Given the description of an element on the screen output the (x, y) to click on. 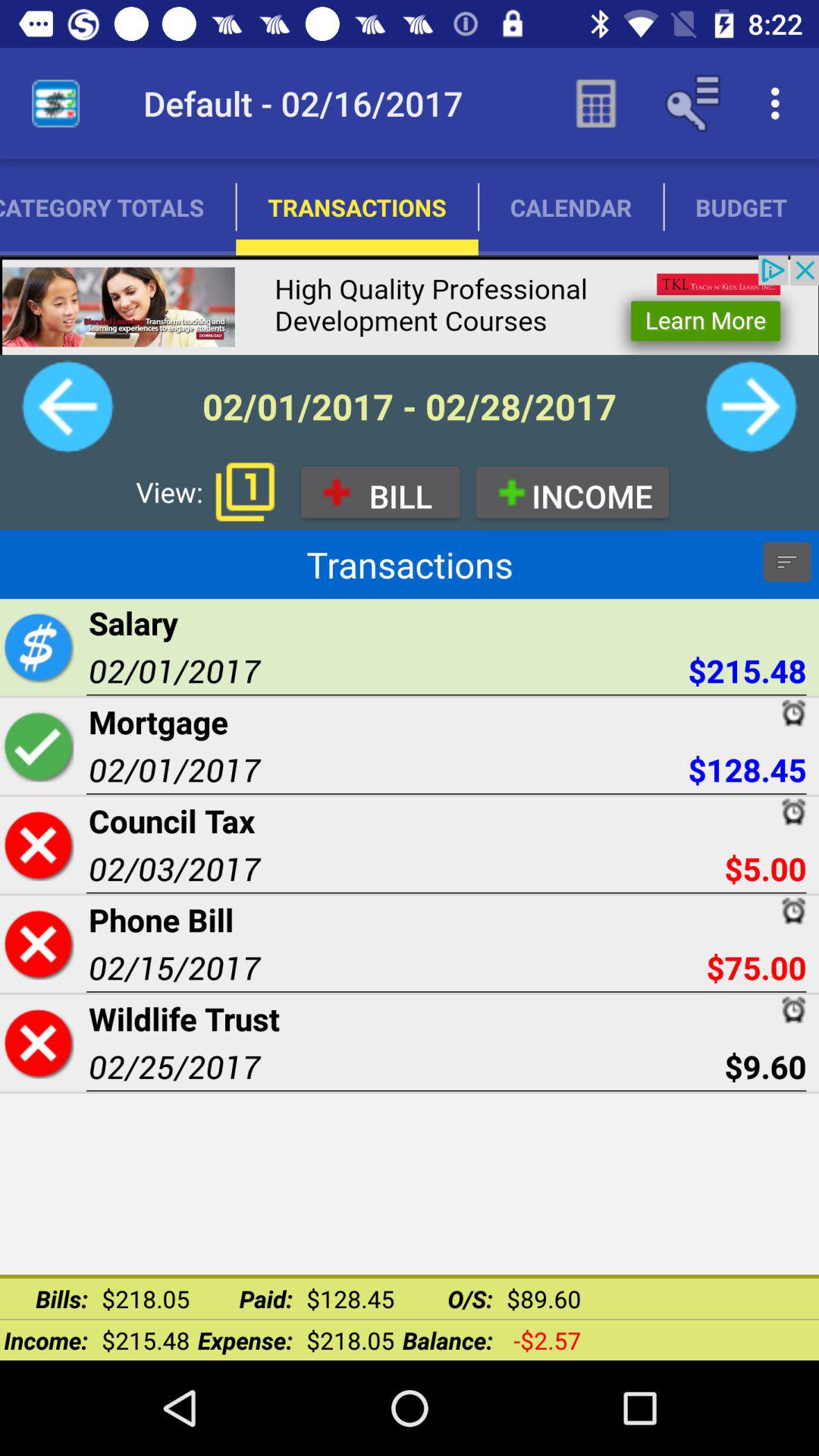
go to advertisement (409, 304)
